Given the description of an element on the screen output the (x, y) to click on. 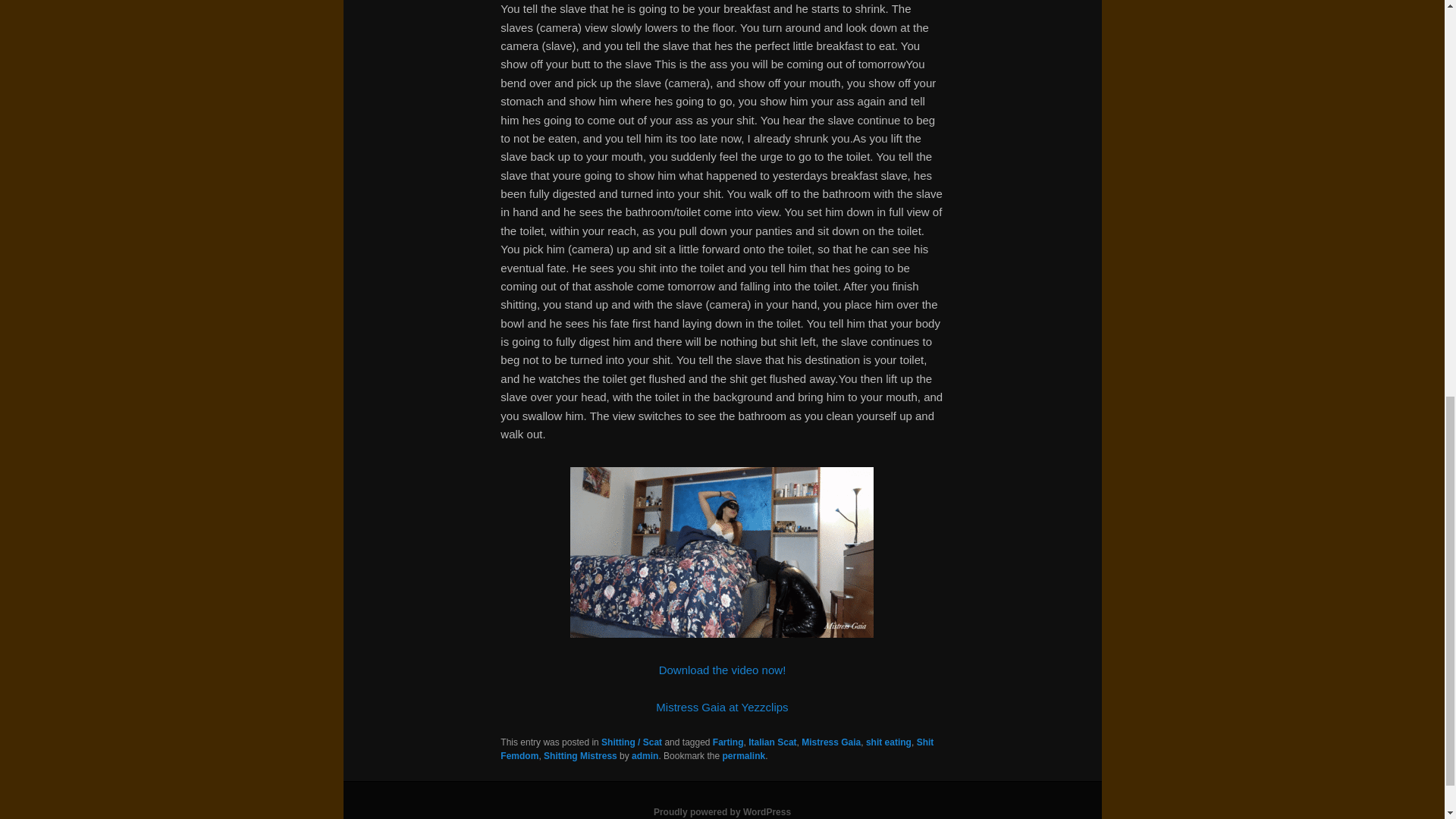
Download the video now! (722, 669)
Proudly powered by WordPress (721, 811)
Mistress Gaia at Yezzclips (721, 707)
Mistress Gaia (831, 742)
admin (644, 756)
Farting (728, 742)
Shitting Mistress (580, 756)
Semantic Personal Publishing Platform (721, 811)
shit eating (888, 742)
Shit Femdom (716, 749)
